Given the description of an element on the screen output the (x, y) to click on. 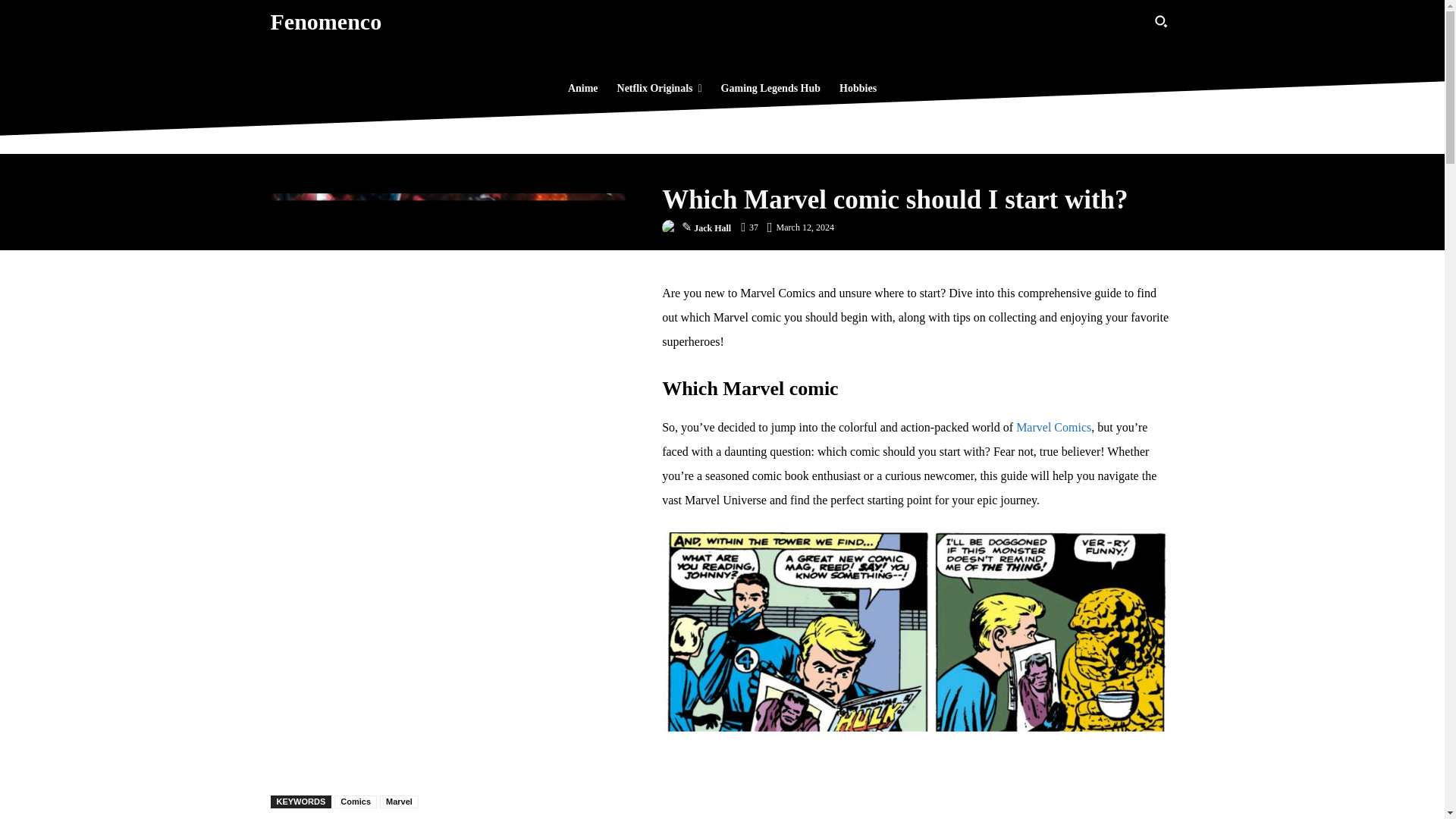
Netflix Originals (660, 88)
Jack Hall (712, 227)
Gaming Legends Hub (770, 88)
Fenomenco (325, 21)
Marvel Comics (1053, 427)
Marvel (399, 801)
Jack Hall (671, 227)
Hobbies (857, 88)
Comics (355, 801)
Anime (582, 88)
